Given the description of an element on the screen output the (x, y) to click on. 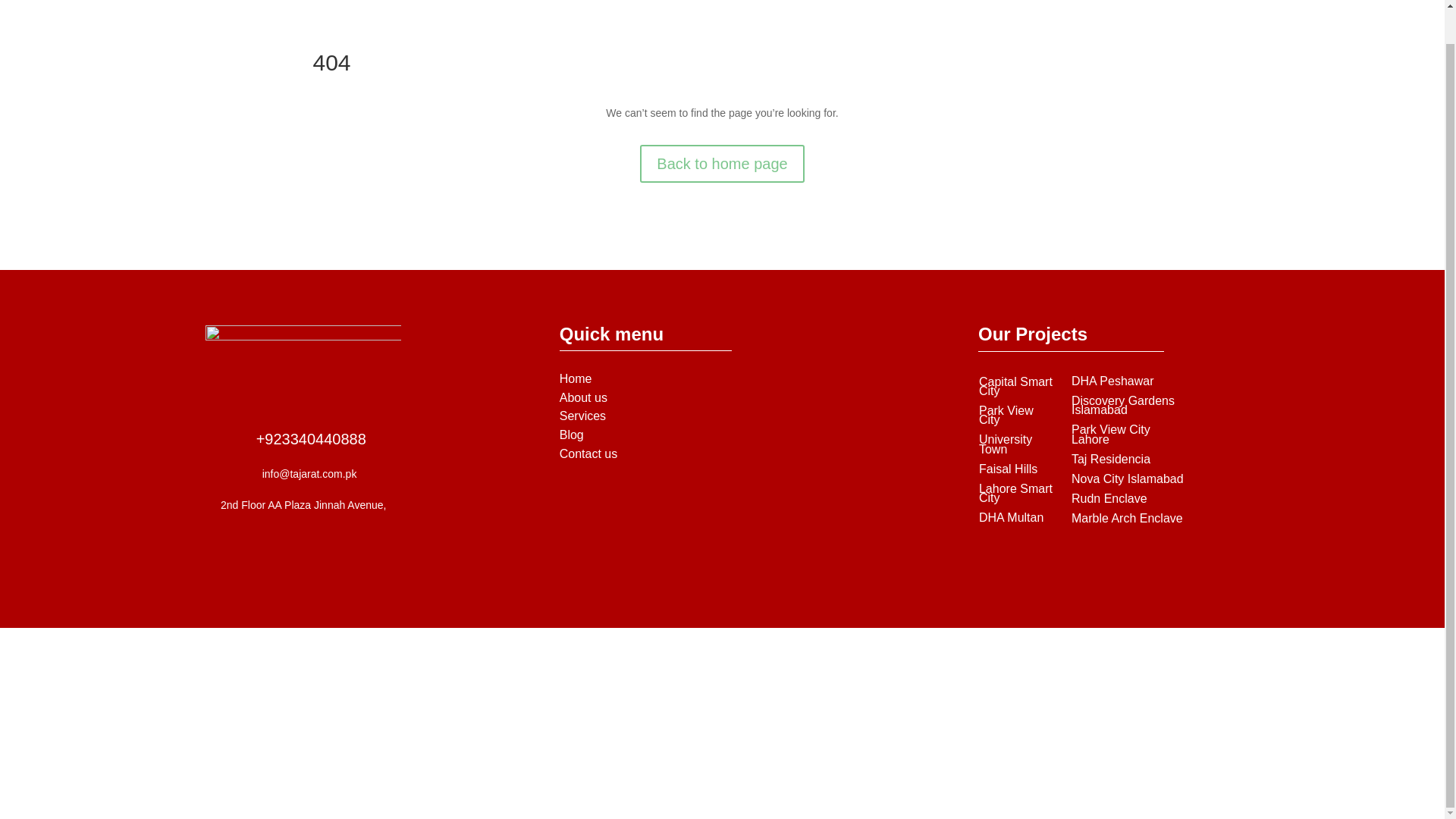
About us (583, 397)
Back to home page (721, 163)
Taj Residencia (1110, 459)
tajarat-logo (303, 357)
DHA Peshawar (1112, 380)
Nova City Islamabad (1127, 478)
Services (582, 415)
Marble Arch Enclave (1126, 517)
Contact us (588, 453)
Faisal Hills (1007, 468)
Park View City Lahore (1110, 434)
Rudn Enclave (1109, 498)
Discovery Gardens Islamabad (1122, 404)
Lahore Smart City (1015, 493)
Home (575, 378)
